Given the description of an element on the screen output the (x, y) to click on. 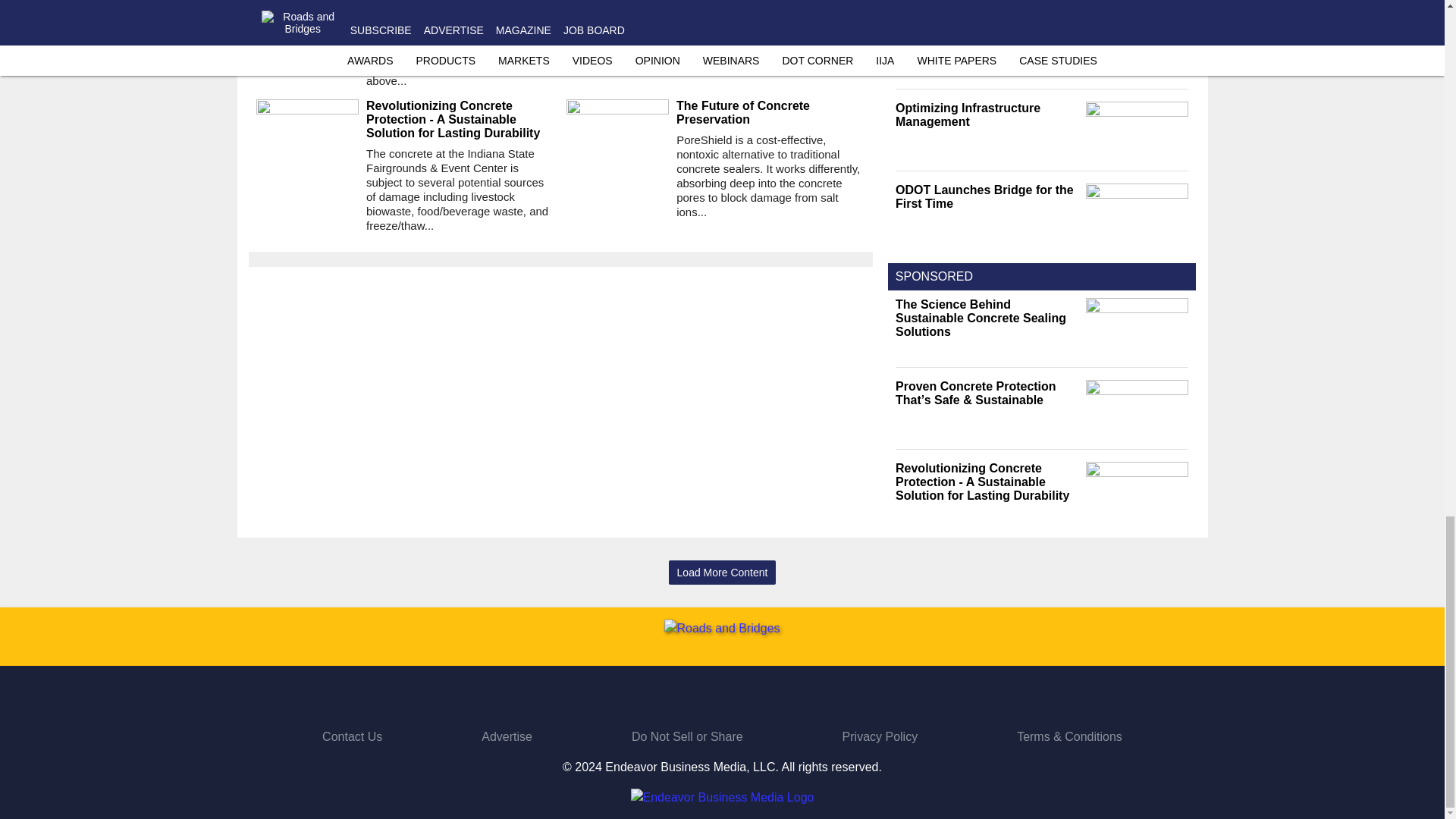
The Future of Concrete Preservation (770, 112)
